Given the description of an element on the screen output the (x, y) to click on. 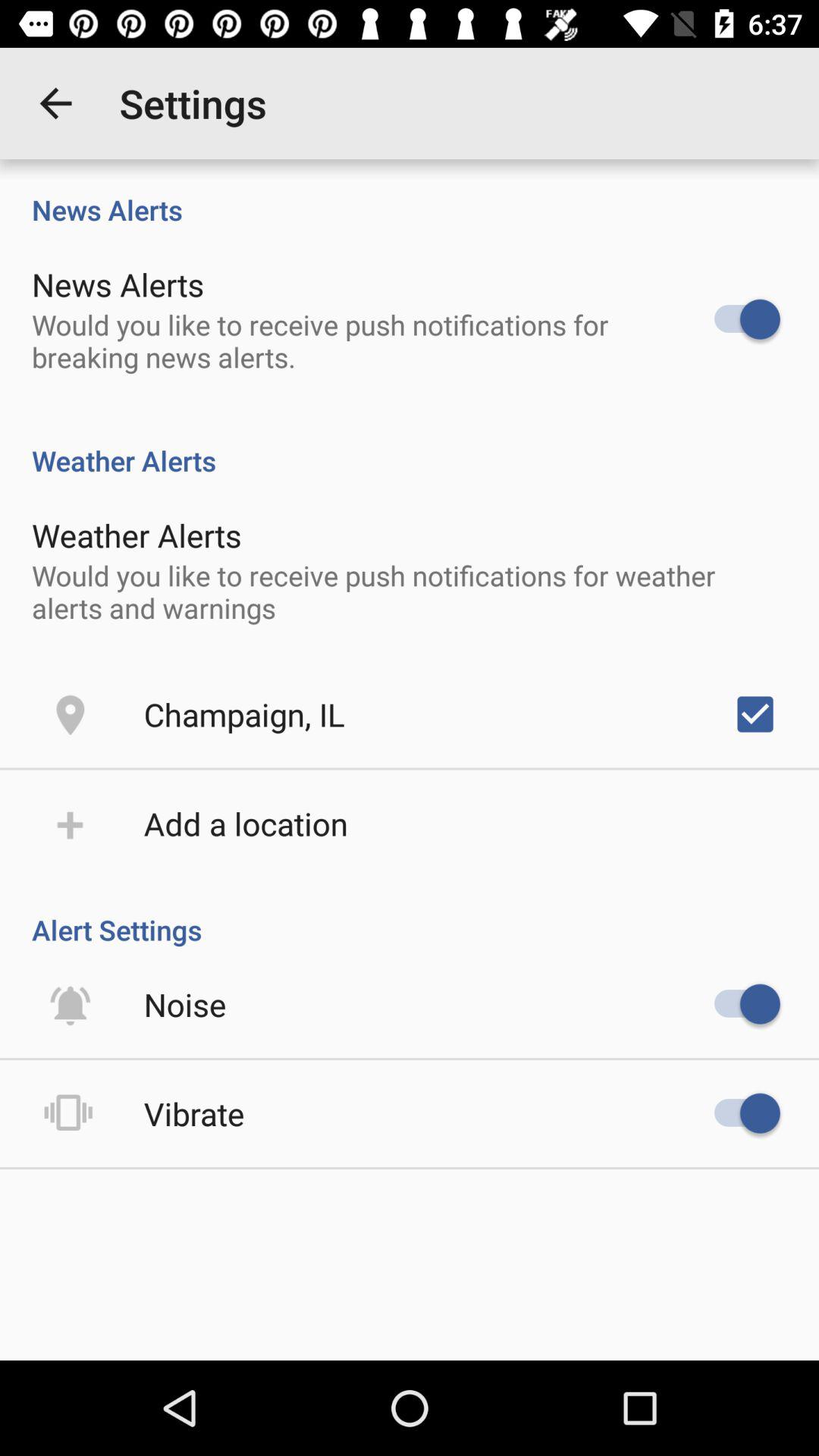
select the item below champaign, il (245, 823)
